Given the description of an element on the screen output the (x, y) to click on. 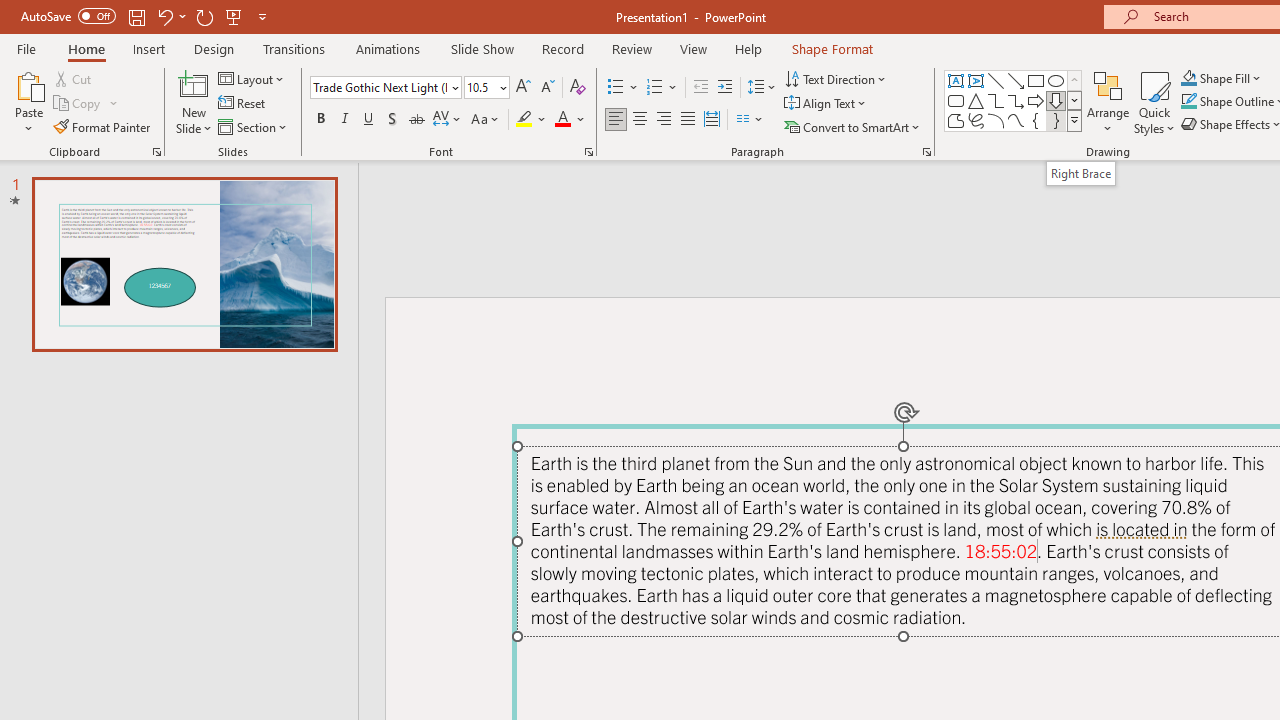
Shape Fill Aqua, Accent 2 (1188, 78)
